Given the description of an element on the screen output the (x, y) to click on. 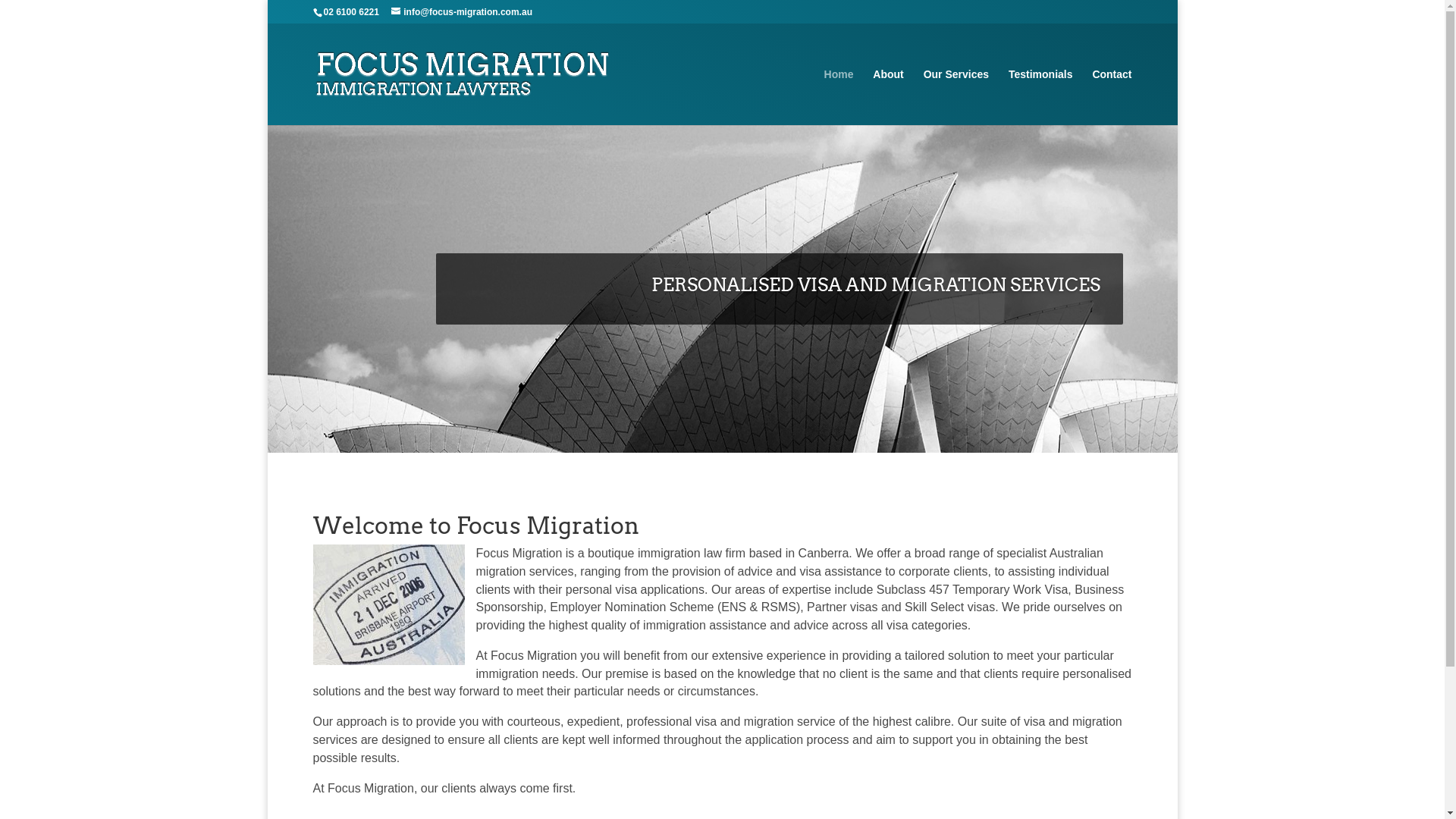
02 6100 6221 Element type: text (350, 11)
Our Services Element type: text (955, 97)
Contact Element type: text (1111, 97)
Home Element type: text (838, 97)
Testimonials Element type: text (1040, 97)
About Element type: text (887, 97)
info@focus-migration.com.au Element type: text (461, 11)
